Given the description of an element on the screen output the (x, y) to click on. 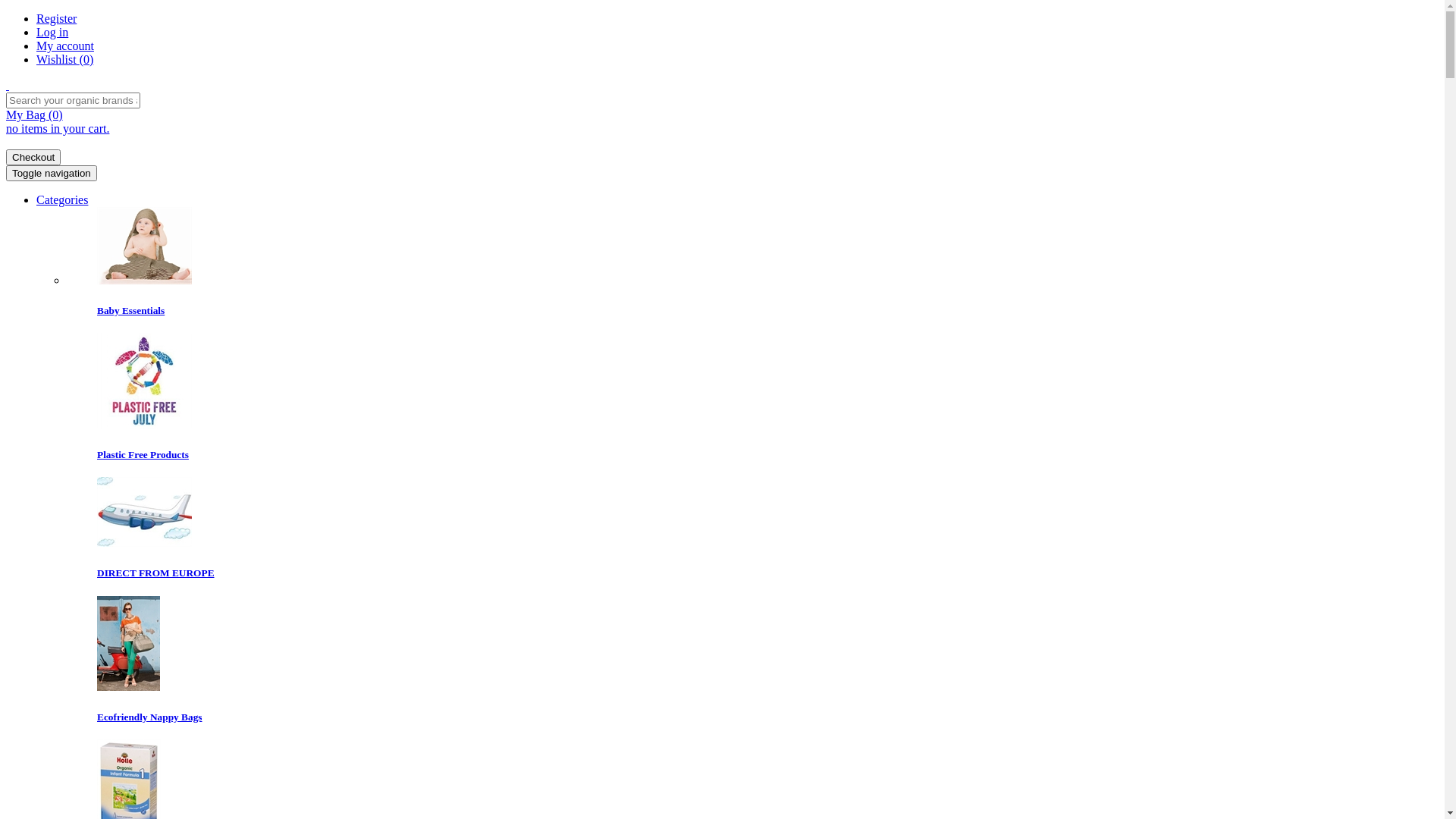
Ecofriendly Nappy Bags Element type: text (767, 701)
(0) Element type: text (86, 59)
Log in Element type: text (52, 31)
  Element type: text (722, 85)
Plastic Free Products Element type: text (767, 439)
DIRECT FROM EUROPE Element type: text (767, 557)
My account Element type: text (65, 45)
Checkout Element type: text (33, 157)
Register Element type: text (56, 18)
(0)
no items in your cart. Element type: text (722, 136)
Baby Essentials Element type: text (767, 294)
My Bag Element type: text (27, 114)
Wishlist Element type: text (57, 59)
Categories Element type: text (61, 199)
Toggle navigation Element type: text (51, 173)
